Given the description of an element on the screen output the (x, y) to click on. 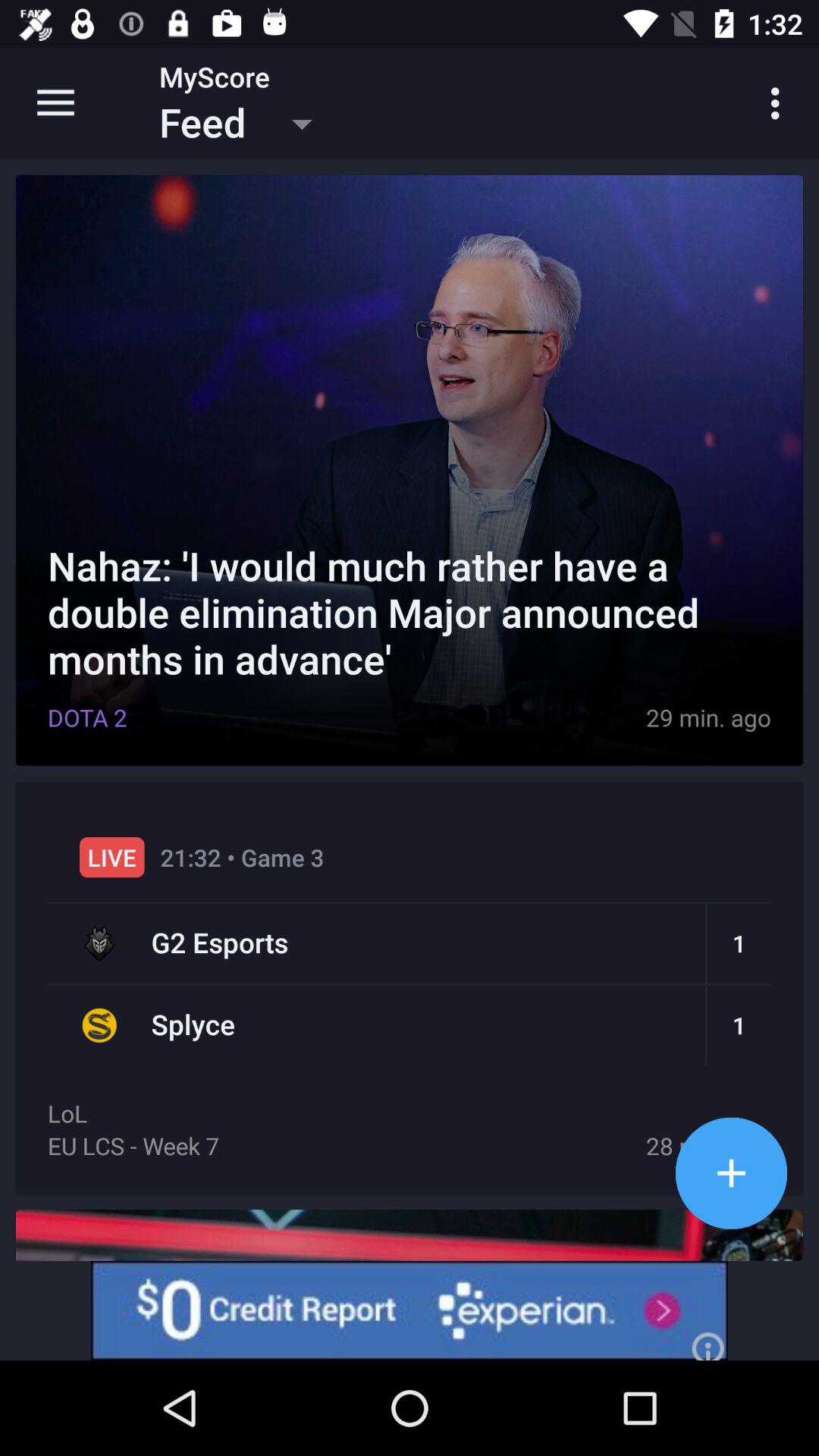
experian advertisement (409, 1310)
